Given the description of an element on the screen output the (x, y) to click on. 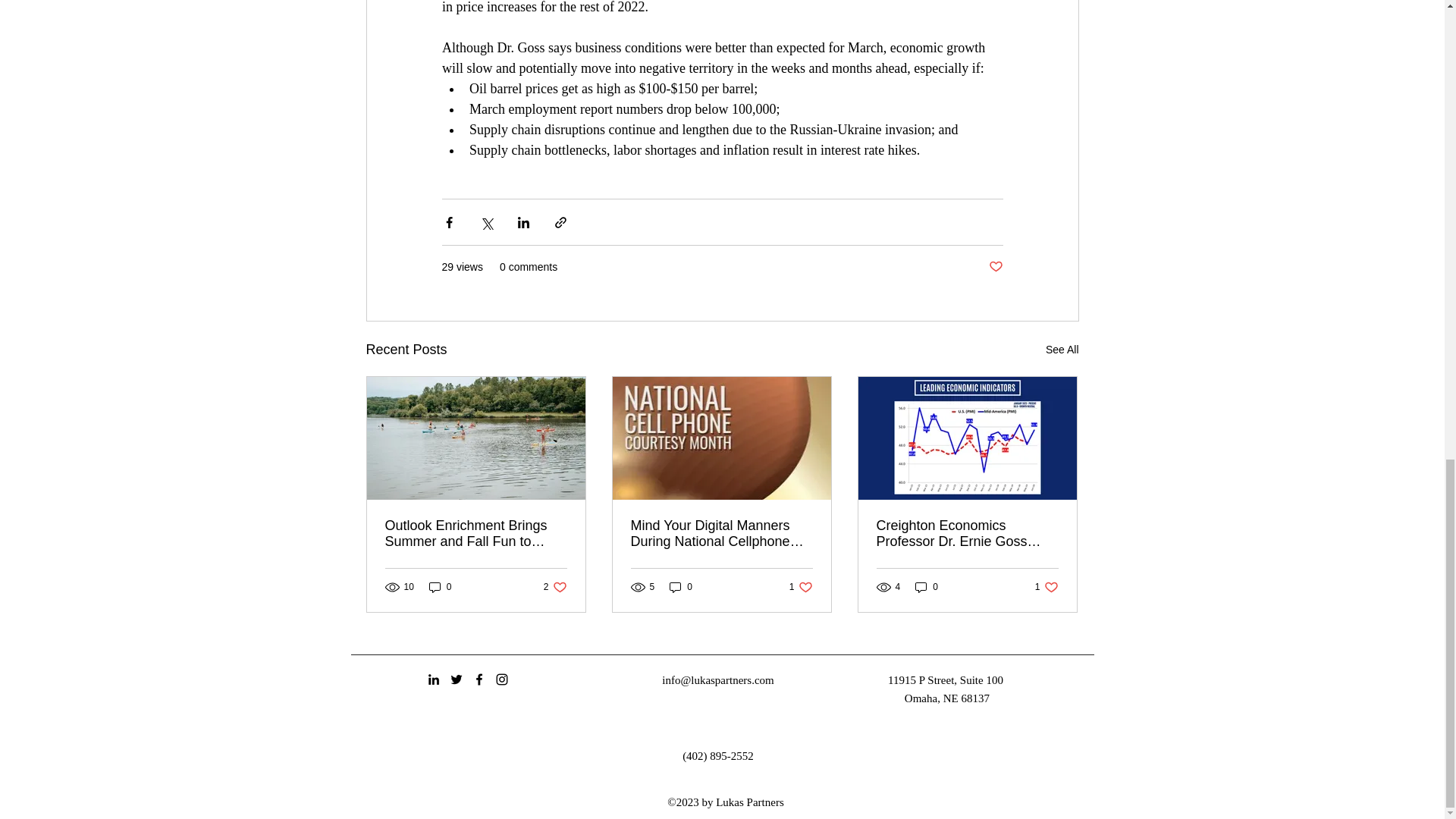
Post not marked as liked (995, 267)
0 (440, 586)
See All (1061, 350)
